Given the description of an element on the screen output the (x, y) to click on. 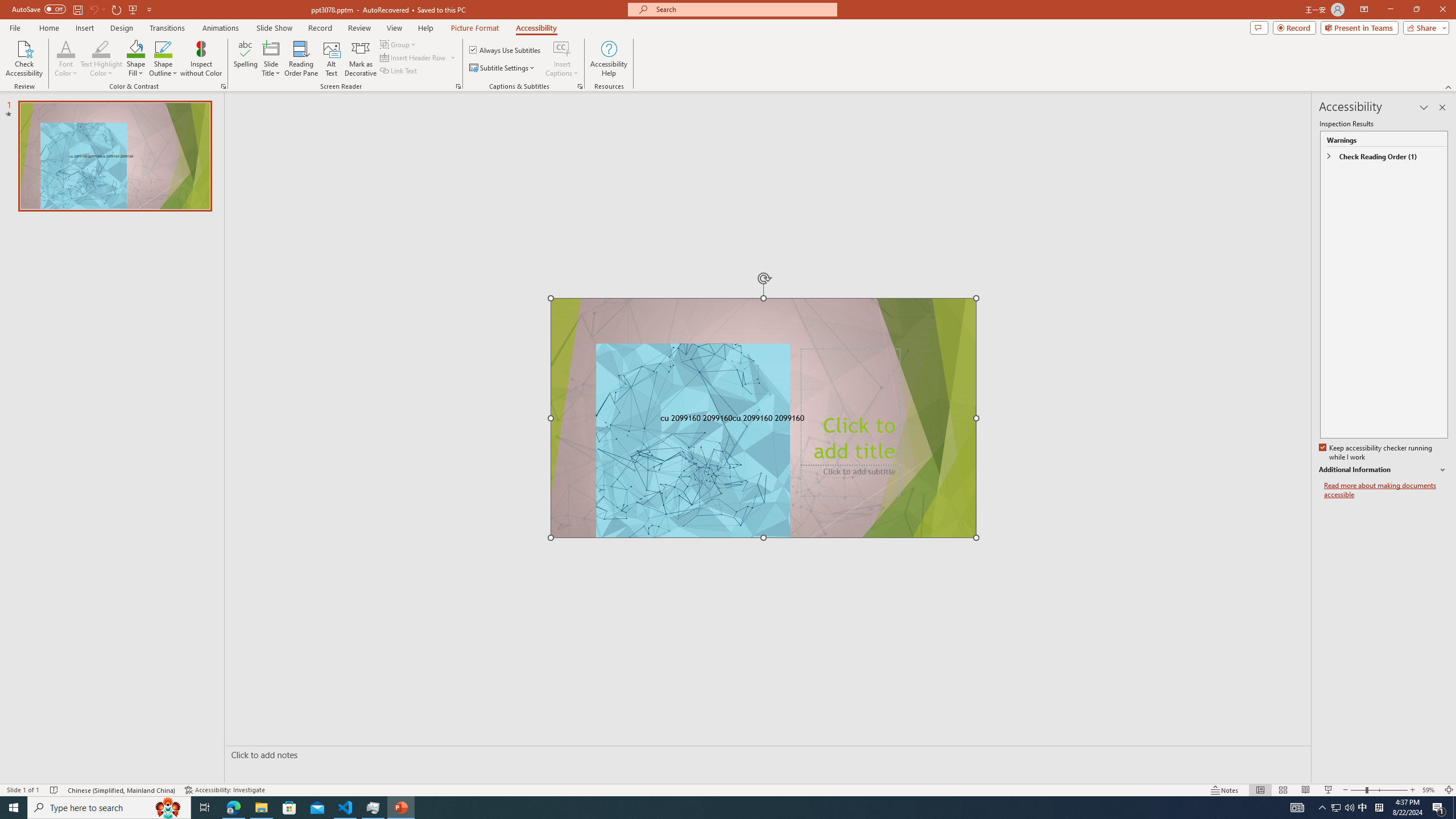
Text Highlight Color (100, 58)
Screen Reader (458, 85)
Group (398, 44)
Shape Fill Dark Green, Accent 2 (135, 48)
Font Color (65, 48)
Slide Title (271, 48)
